Given the description of an element on the screen output the (x, y) to click on. 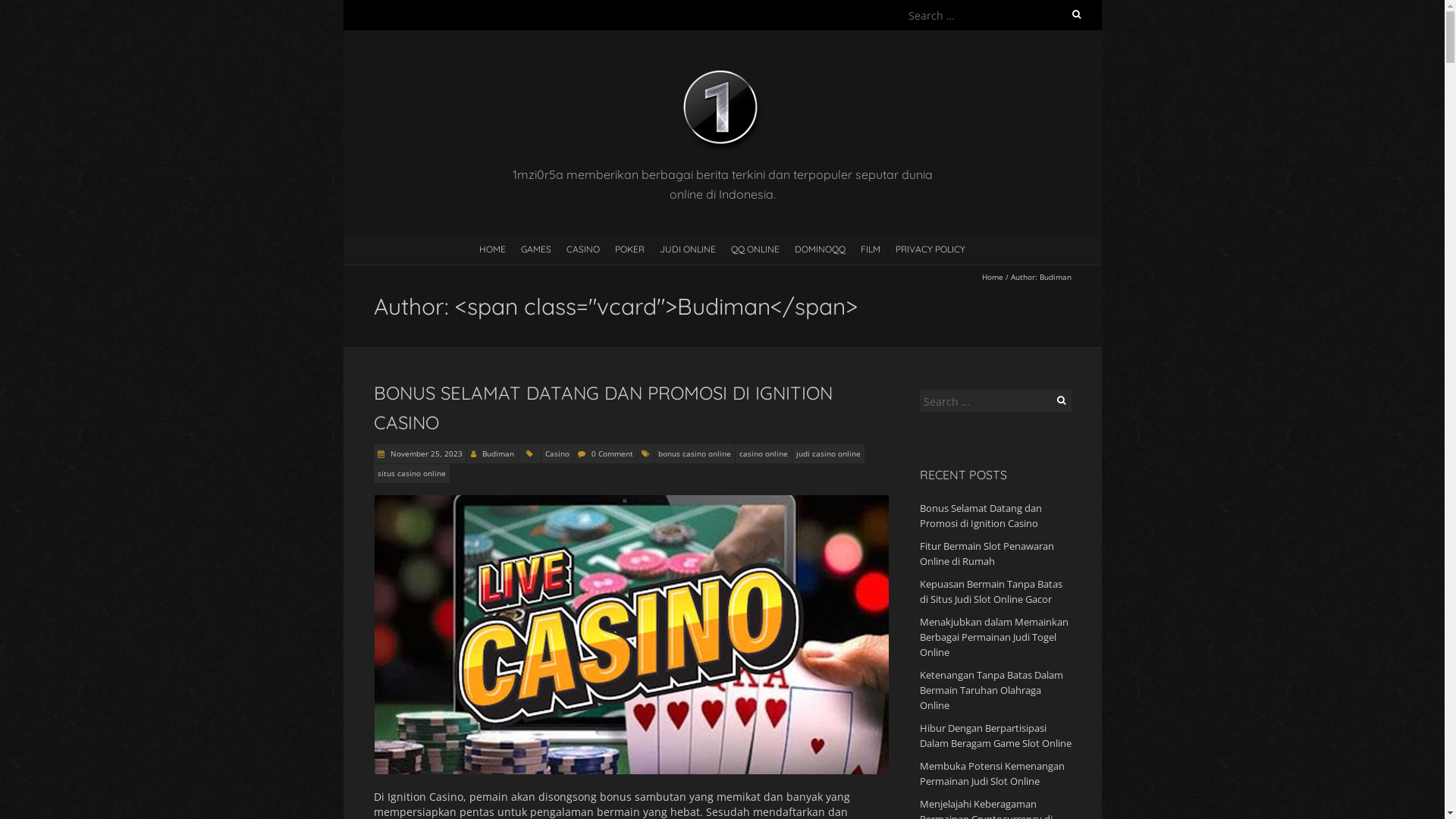
Fitur Bermain Slot Penawaran Online di Rumah Element type: text (986, 553)
QQ ONLINE Element type: text (755, 248)
Kepuasan Bermain Tanpa Batas di Situs Judi Slot Online Gacor Element type: text (990, 591)
judi casino online Element type: text (827, 453)
Hibur Dengan Berpartisipasi Dalam Beragam Game Slot Online Element type: text (994, 735)
HOME Element type: text (492, 248)
Membuka Potensi Kemenangan Permainan Judi Slot Online Element type: text (991, 773)
POKER Element type: text (629, 248)
Budiman Element type: text (498, 453)
JUDI ONLINE Element type: text (687, 248)
CASINO Element type: text (582, 248)
Search Element type: text (28, 9)
PRIVACY POLICY Element type: text (930, 248)
Casino Element type: text (557, 453)
Ketenangan Tanpa Batas Dalam Bermain Taruhan Olahraga Online Element type: text (990, 690)
casino online Element type: text (763, 453)
Bonus Selamat Datang dan Promosi di Ignition Casino Element type: text (980, 515)
FILM Element type: text (870, 248)
DOMINOQQ Element type: text (820, 248)
situs casino online Element type: text (410, 473)
BONUS SELAMAT DATANG DAN PROMOSI DI IGNITION CASINO Element type: text (602, 407)
Home Element type: text (991, 276)
GAMES Element type: text (535, 248)
November 25, 2023 Element type: text (425, 453)
Category Element type: hover (529, 453)
bonus casino online Element type: text (693, 453)
0 Comment Element type: text (612, 453)
